Given the description of an element on the screen output the (x, y) to click on. 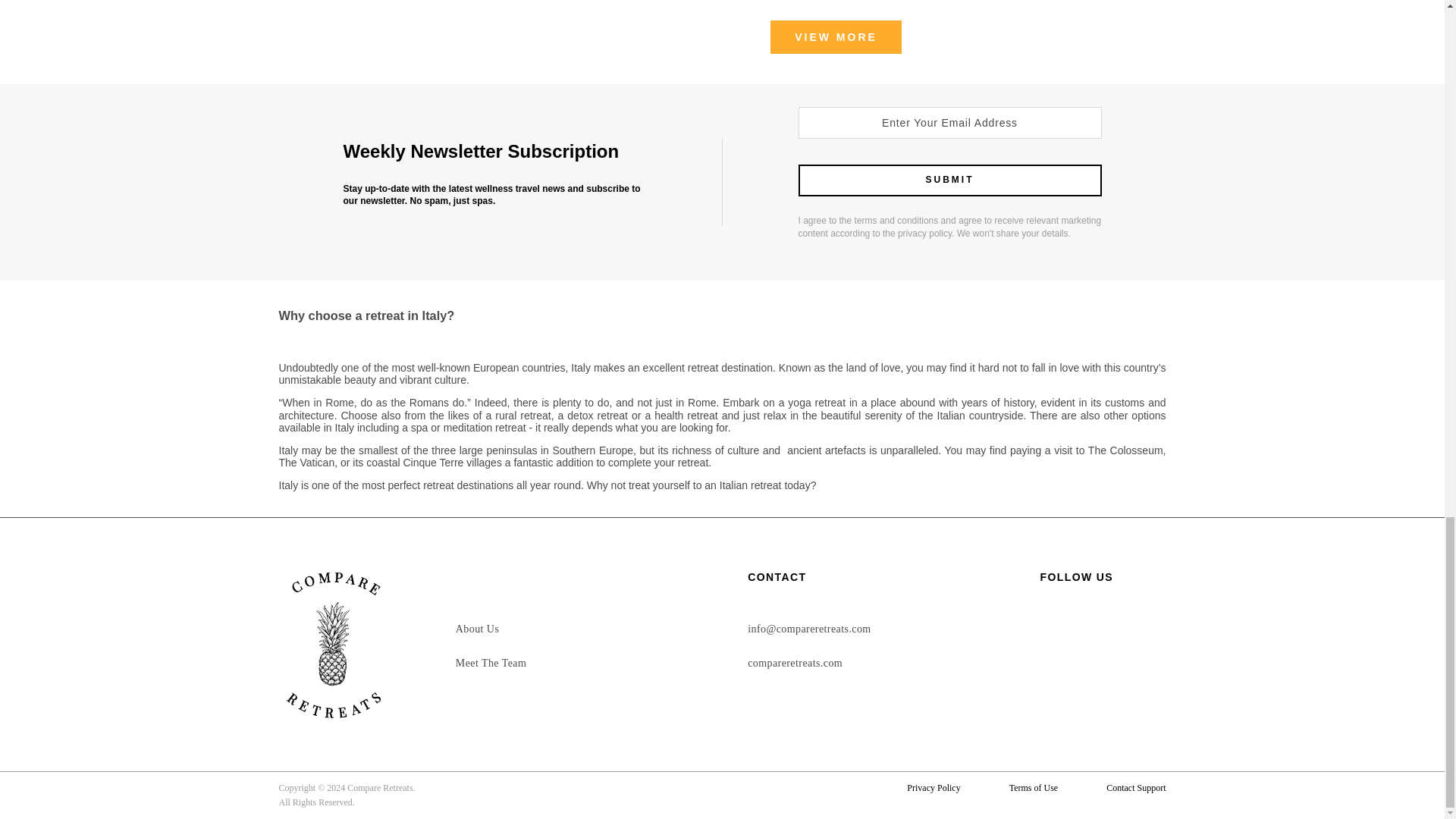
submit (948, 180)
